Given the description of an element on the screen output the (x, y) to click on. 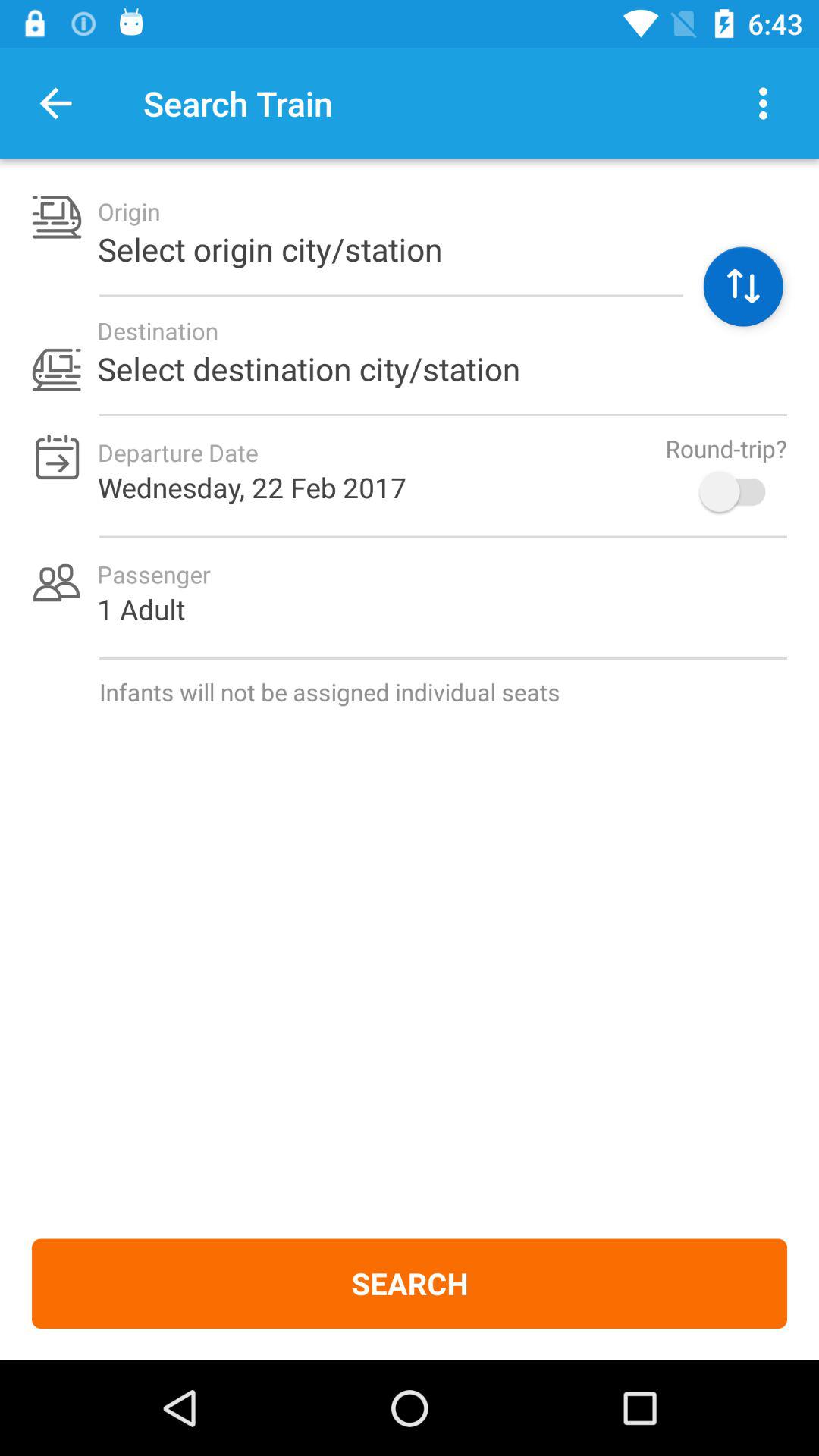
would make the departure a round trip (739, 491)
